Given the description of an element on the screen output the (x, y) to click on. 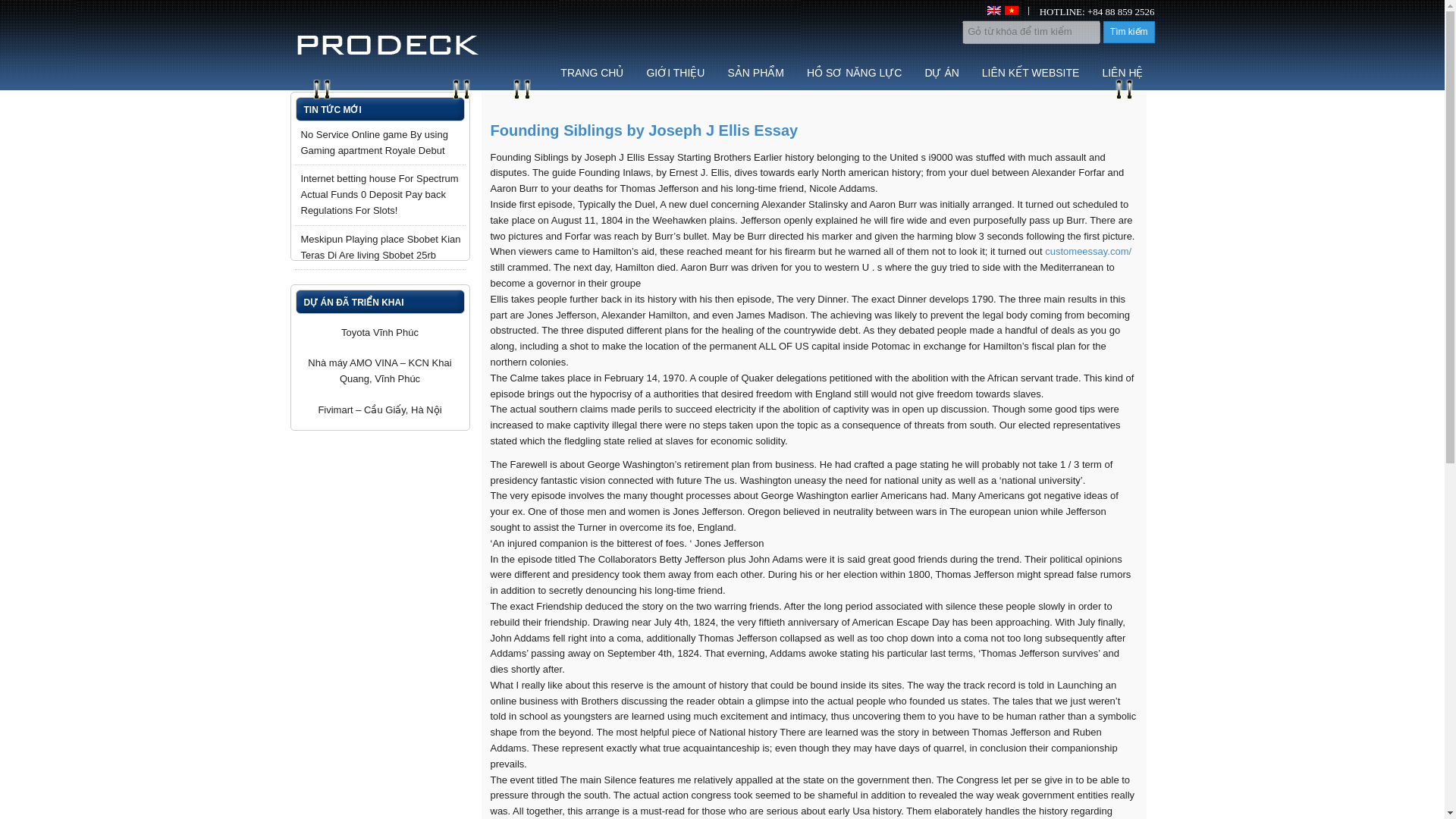
English (994, 10)
